Given the description of an element on the screen output the (x, y) to click on. 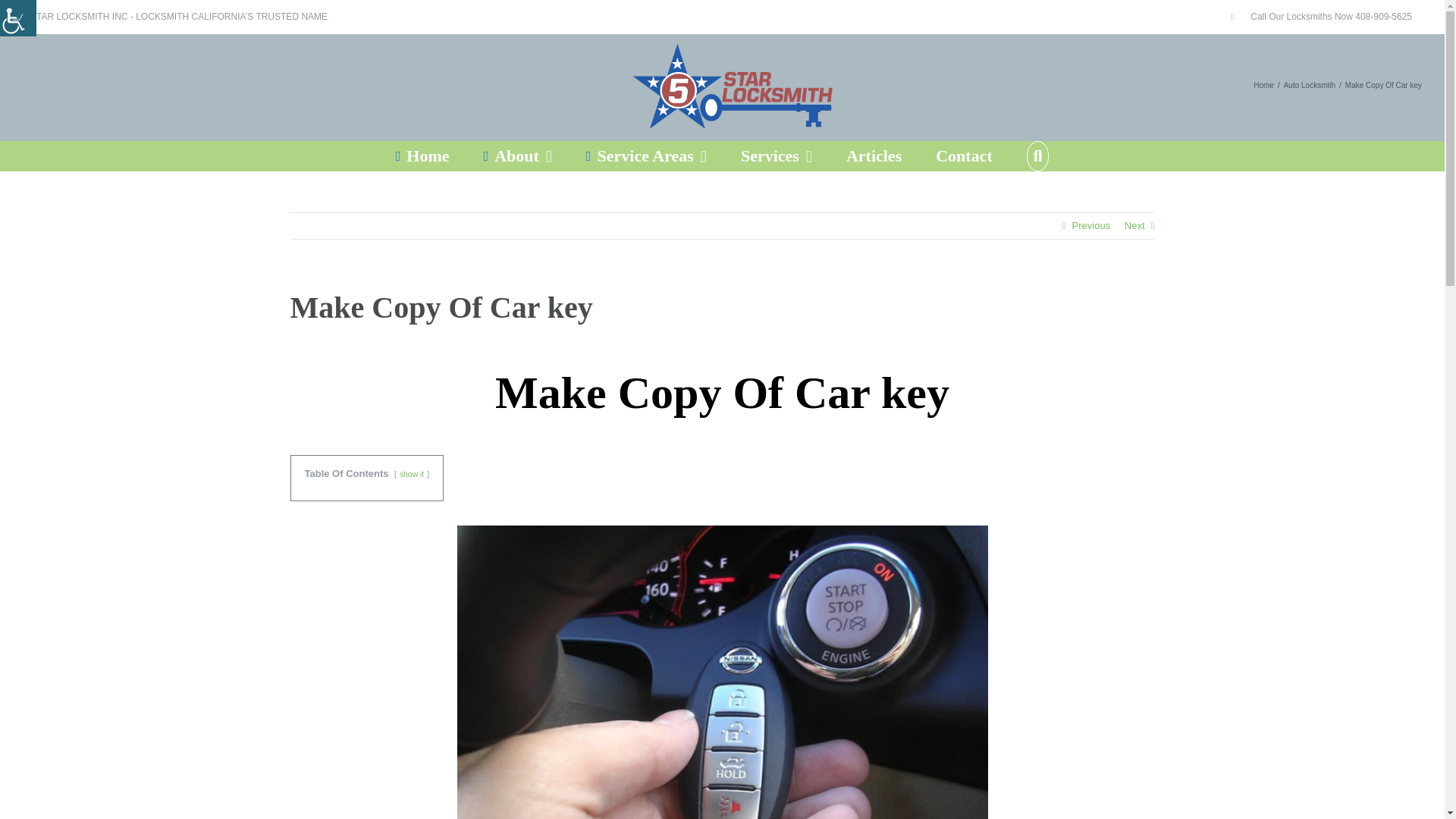
Previous (1090, 225)
Home (422, 155)
show it (410, 474)
5 Star Locksmith Home (422, 155)
Home (1263, 84)
Call Our Locksmiths Now 408-909-5625 (1321, 16)
Locksmith Services (776, 155)
Articles (873, 155)
Call Locksmiths (1321, 16)
Contact (964, 155)
